Given the description of an element on the screen output the (x, y) to click on. 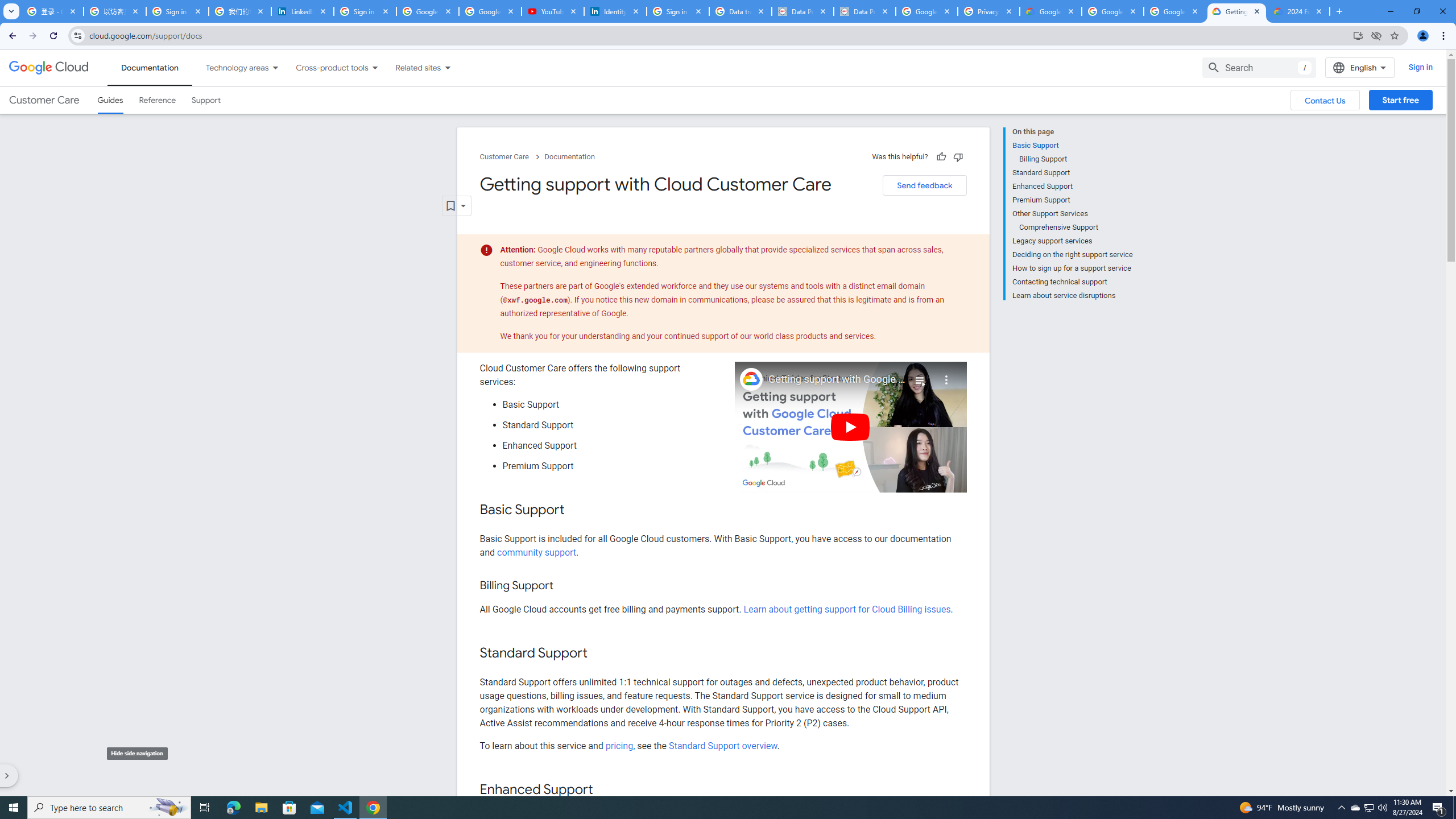
Dropdown menu for Technology areas (274, 67)
Google Cloud Terms Directory | Google Cloud (1050, 11)
Sign in - Google Accounts (678, 11)
Google Workspace - Specific Terms (1174, 11)
Open dropdown (456, 205)
Comprehensive Support (1075, 227)
Technology areas (230, 67)
Basic Support (1071, 145)
Not helpful (957, 156)
